Given the description of an element on the screen output the (x, y) to click on. 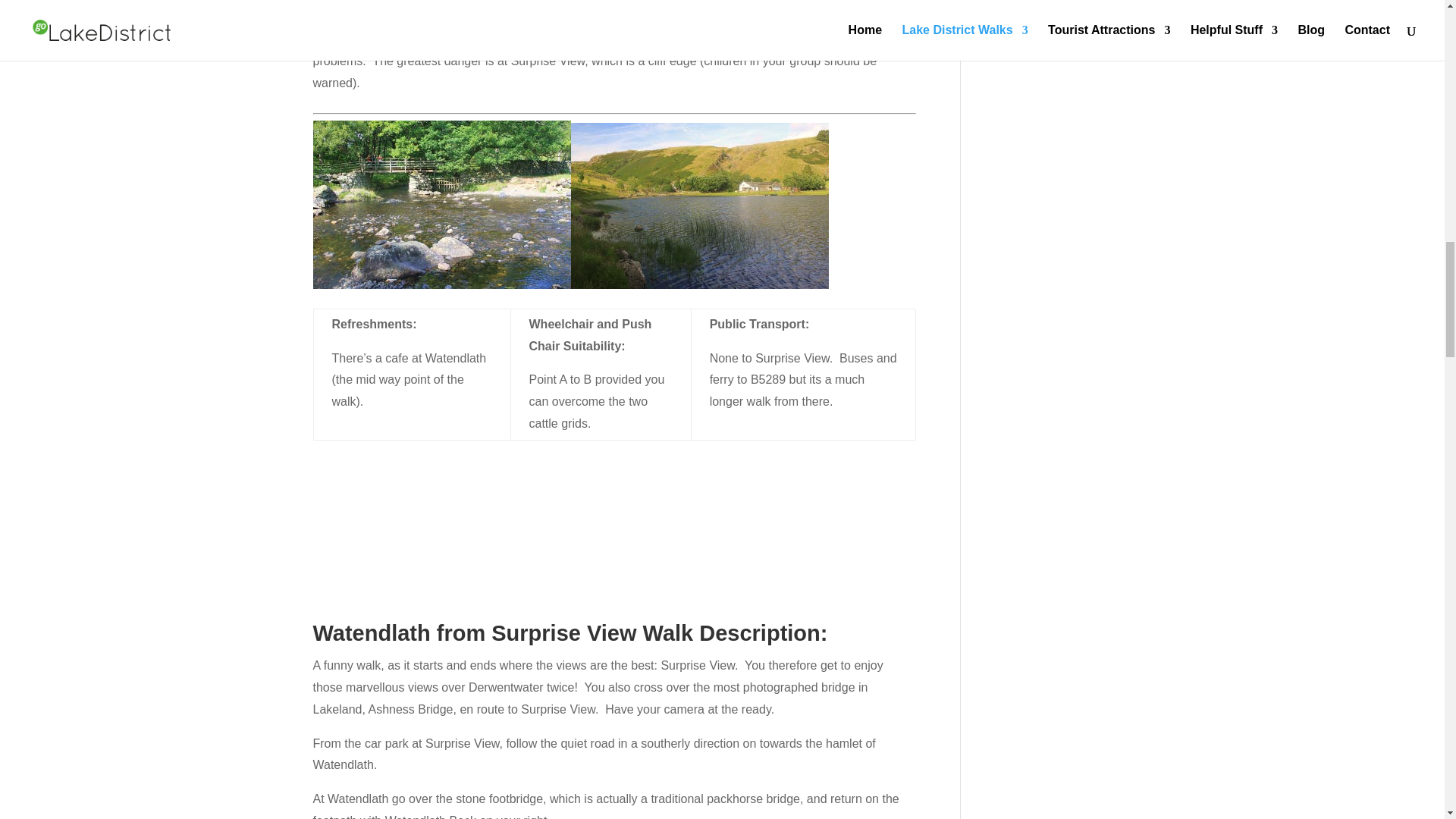
Watendlath Tarn, Borrowdale, Cumbria (699, 205)
Bridge of Watendlath Beck, Borrowdale, Cumbria (441, 204)
